Given the description of an element on the screen output the (x, y) to click on. 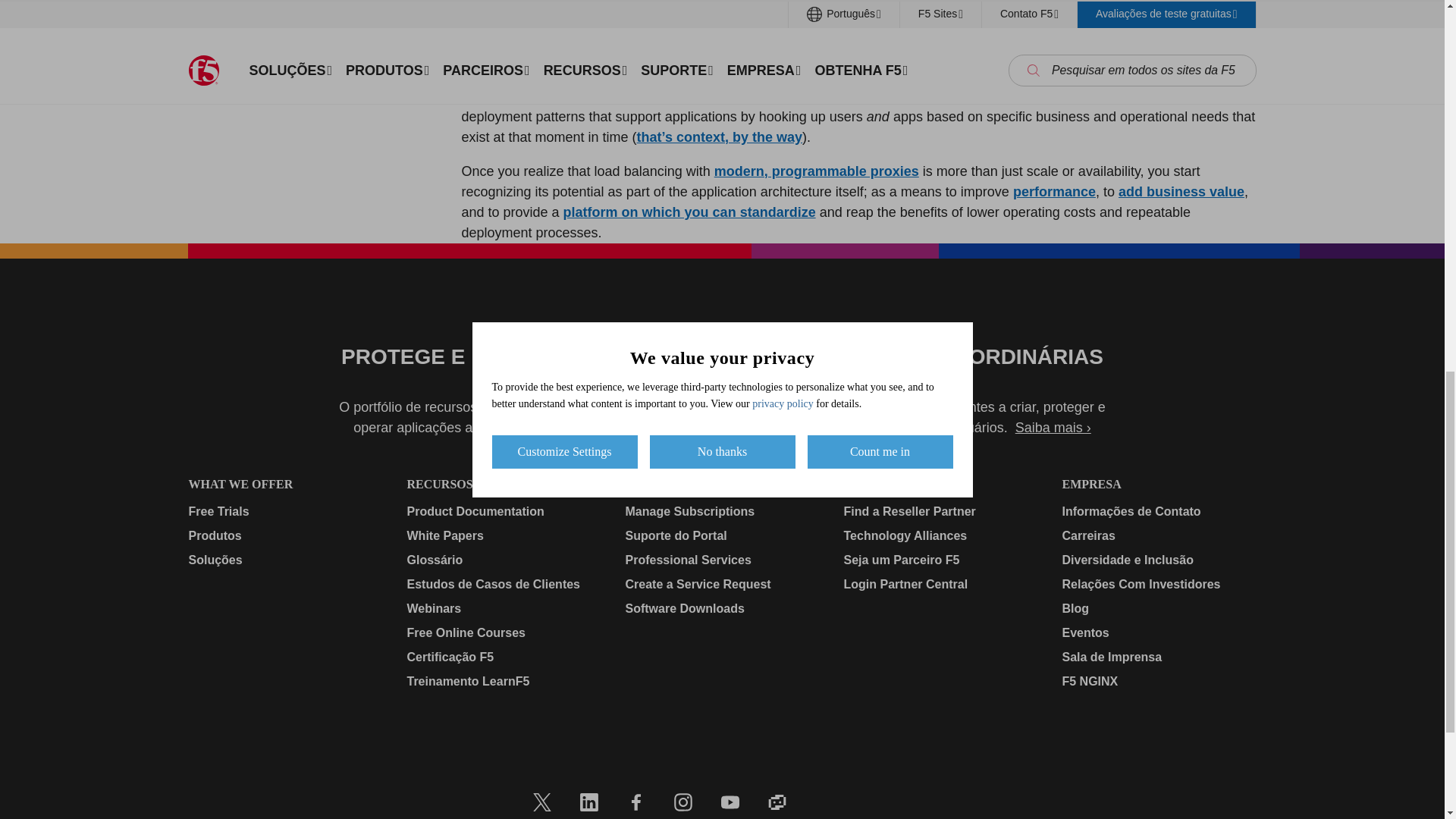
API versioning (975, 96)
performance (1054, 191)
Webinars (502, 608)
White Papers (502, 536)
Produtos (284, 536)
platform on which you can standardize (689, 212)
Canary Deployments (742, 96)
add business value (1181, 191)
Blue-Green Deployment (590, 96)
modern, programmable proxies (816, 171)
Free Trials (284, 511)
Product Documentation (502, 511)
Estudos de Casos de Clientes (502, 584)
